Given the description of an element on the screen output the (x, y) to click on. 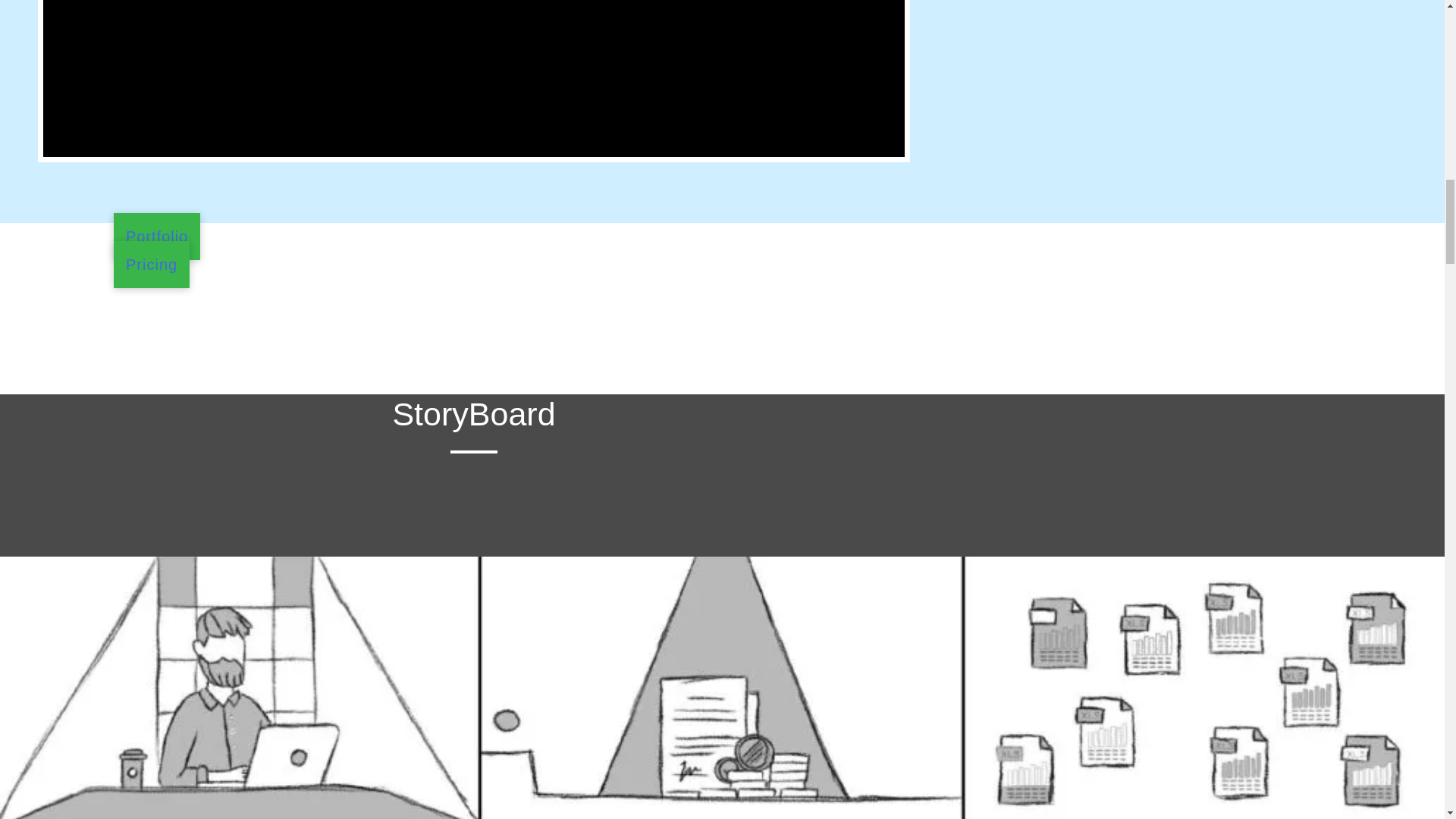
Portfolio (156, 236)
Pricing (151, 264)
